Given the description of an element on the screen output the (x, y) to click on. 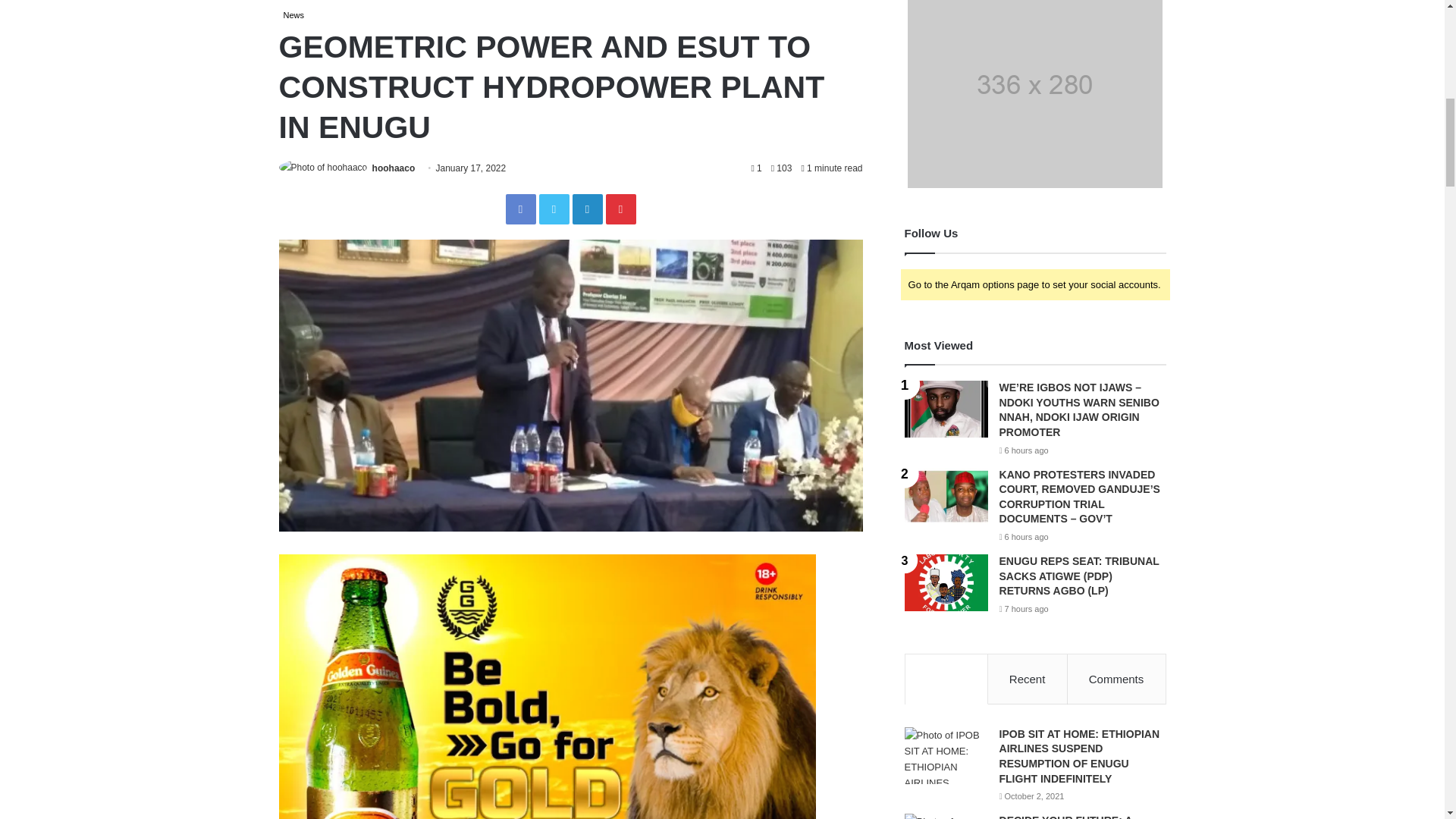
LinkedIn (587, 209)
Pinterest (619, 209)
hoohaaco (393, 167)
hoohaaco (393, 167)
Facebook (520, 209)
Twitter (553, 209)
News (293, 14)
